Given the description of an element on the screen output the (x, y) to click on. 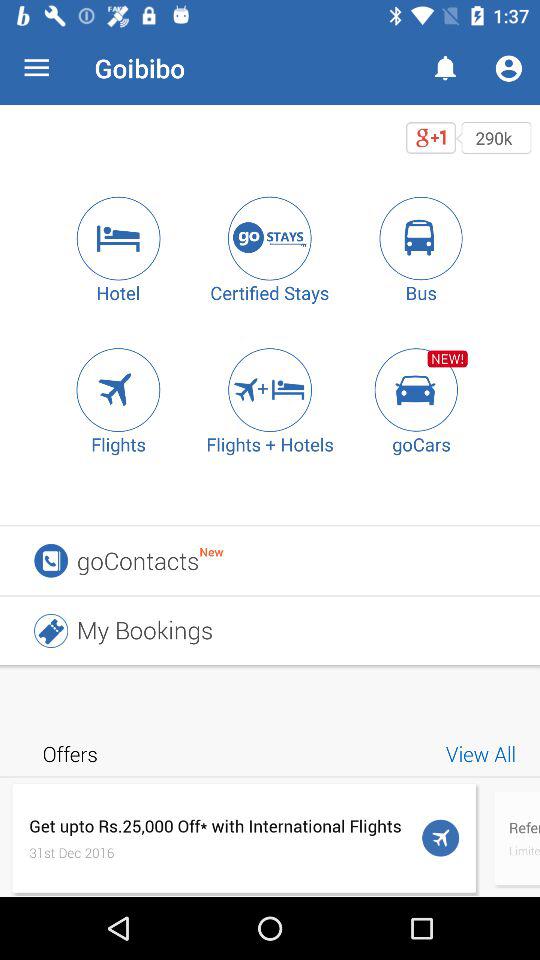
tap the bus icon to book travel by bus (421, 238)
